Given the description of an element on the screen output the (x, y) to click on. 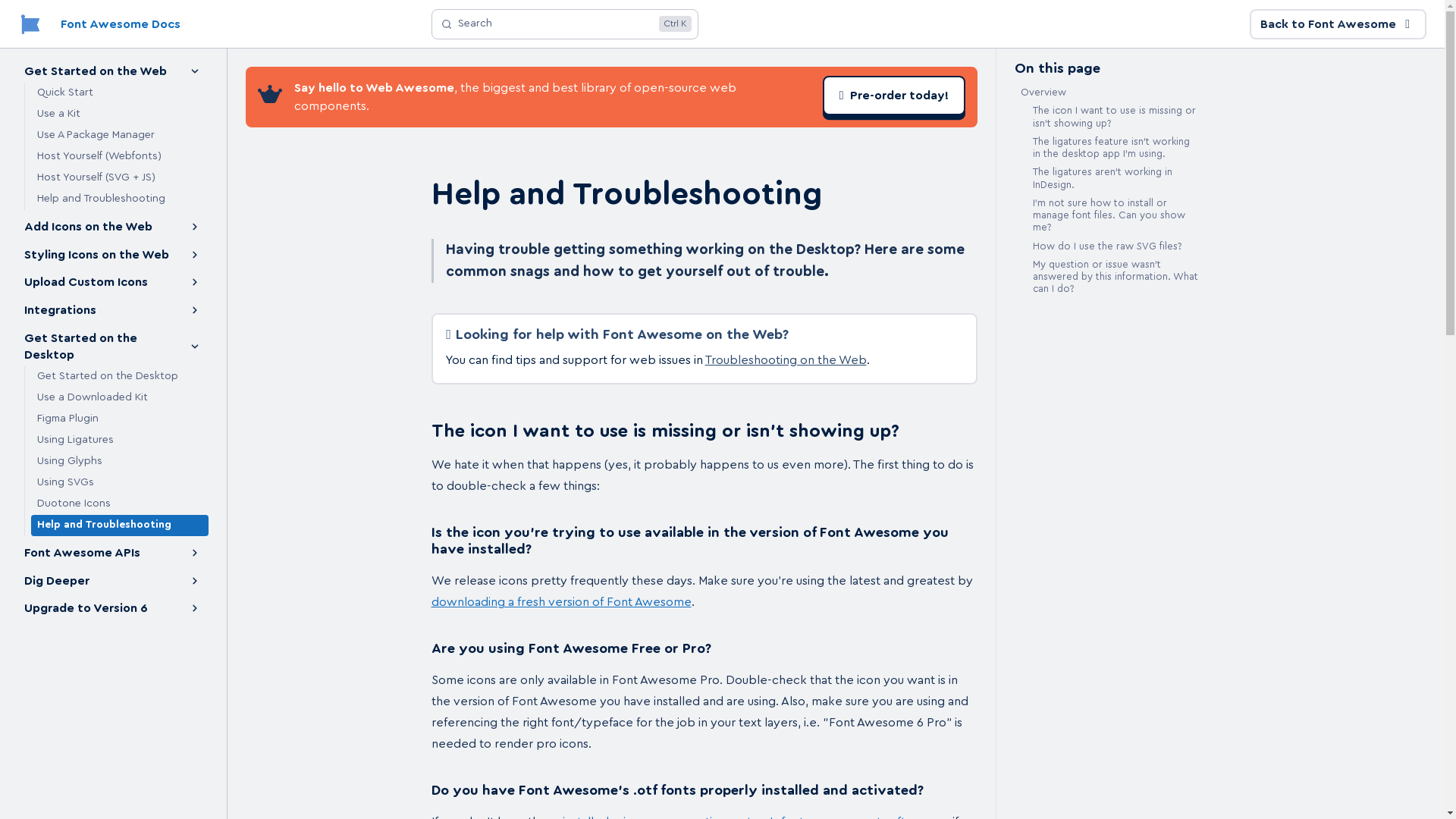
Use A Package Manager (119, 135)
Skip to content (52, 19)
Back to Font Awesome (1337, 24)
Quick Start (119, 93)
Font Awesome Docs (98, 24)
Use a Kit (119, 114)
Help and Troubleshooting (563, 24)
